Given the description of an element on the screen output the (x, y) to click on. 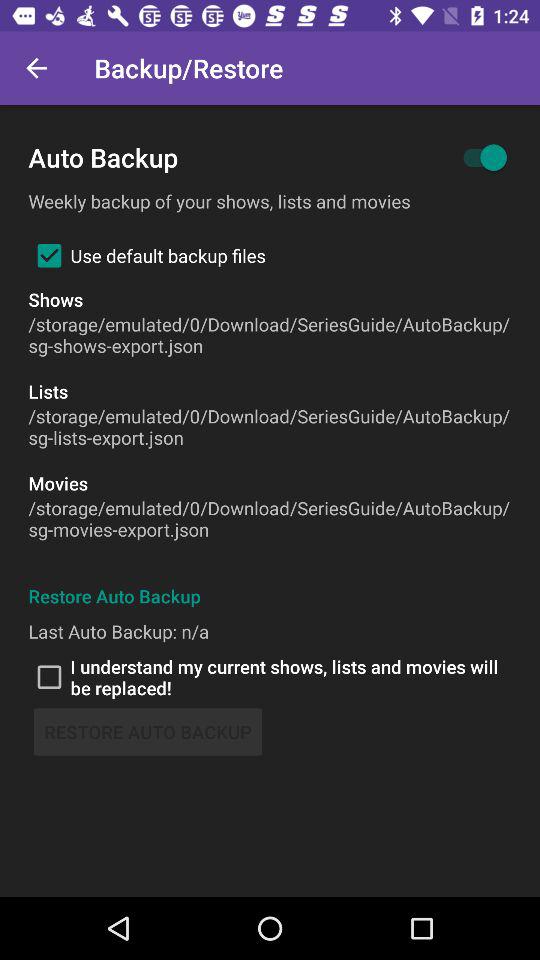
tap item above auto backup item (36, 68)
